Given the description of an element on the screen output the (x, y) to click on. 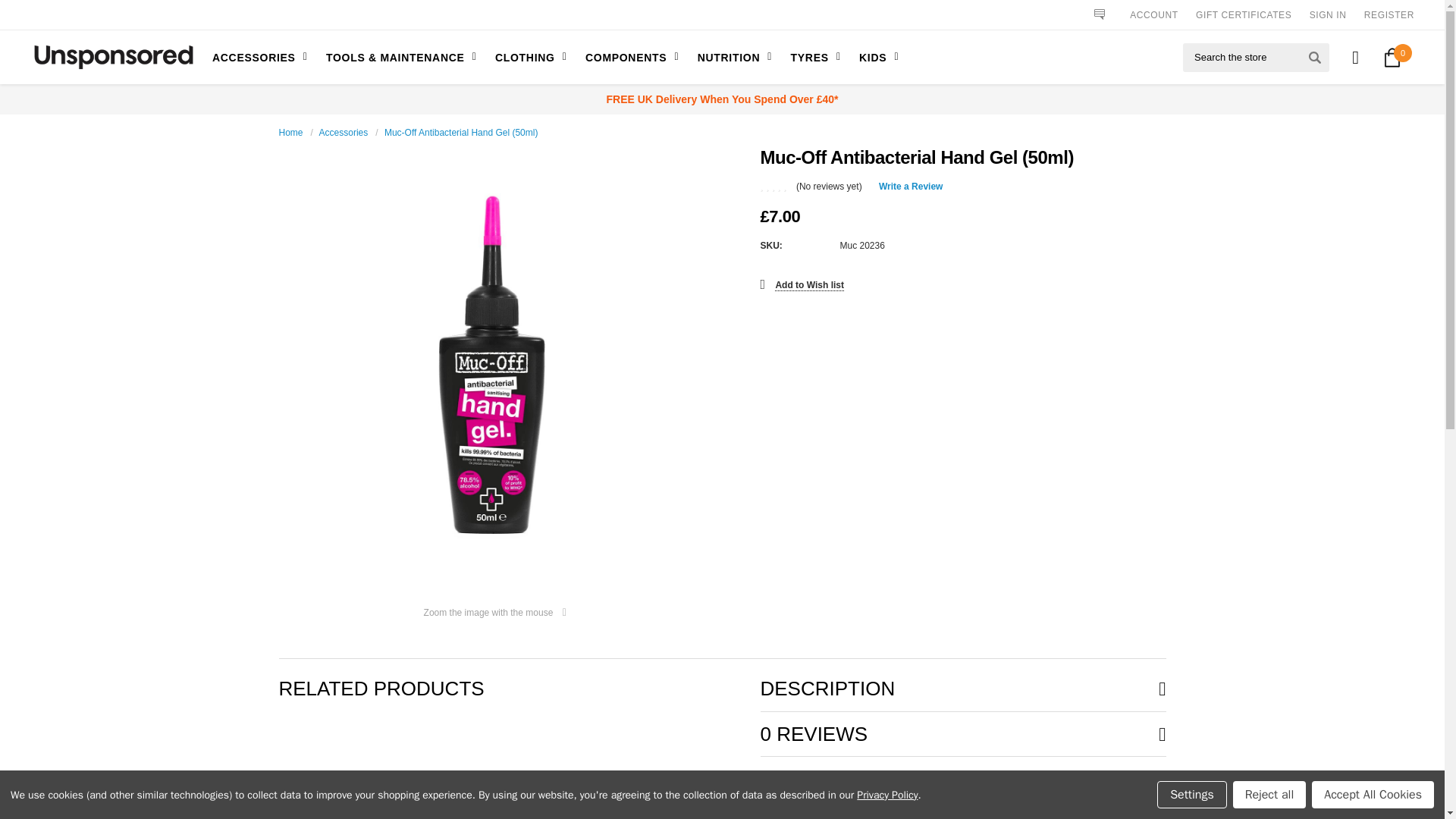
REGISTER (1388, 14)
CLOTHING (527, 57)
ACCOUNT (1153, 14)
Unsponsored (113, 56)
GIFT CERTIFICATES (1243, 14)
SIGN IN (1327, 14)
COMPONENTS (627, 57)
ACCESSORIES (262, 57)
